Given the description of an element on the screen output the (x, y) to click on. 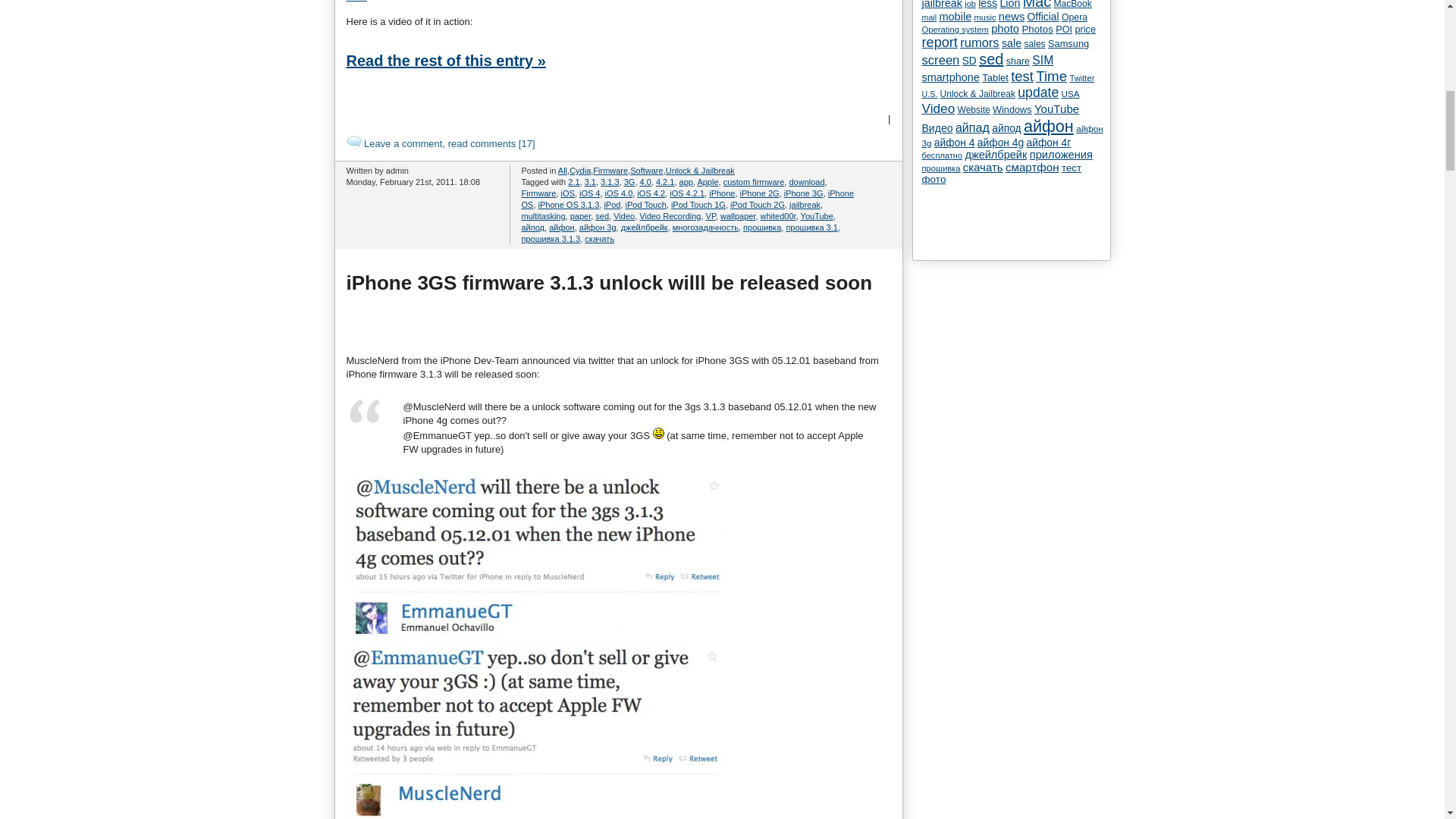
here (356, 1)
4.2.1 (665, 181)
custom firmware (753, 181)
iOS 4.0 (619, 193)
3.1.3 (608, 181)
Firmware (538, 193)
View all posts in Firmware (609, 170)
All (562, 170)
View all posts in All (562, 170)
iOS 4 (589, 193)
iOS (566, 193)
download (806, 181)
View all posts in Software (646, 170)
Firmware (609, 170)
iOS 4.2.1 (686, 193)
